Given the description of an element on the screen output the (x, y) to click on. 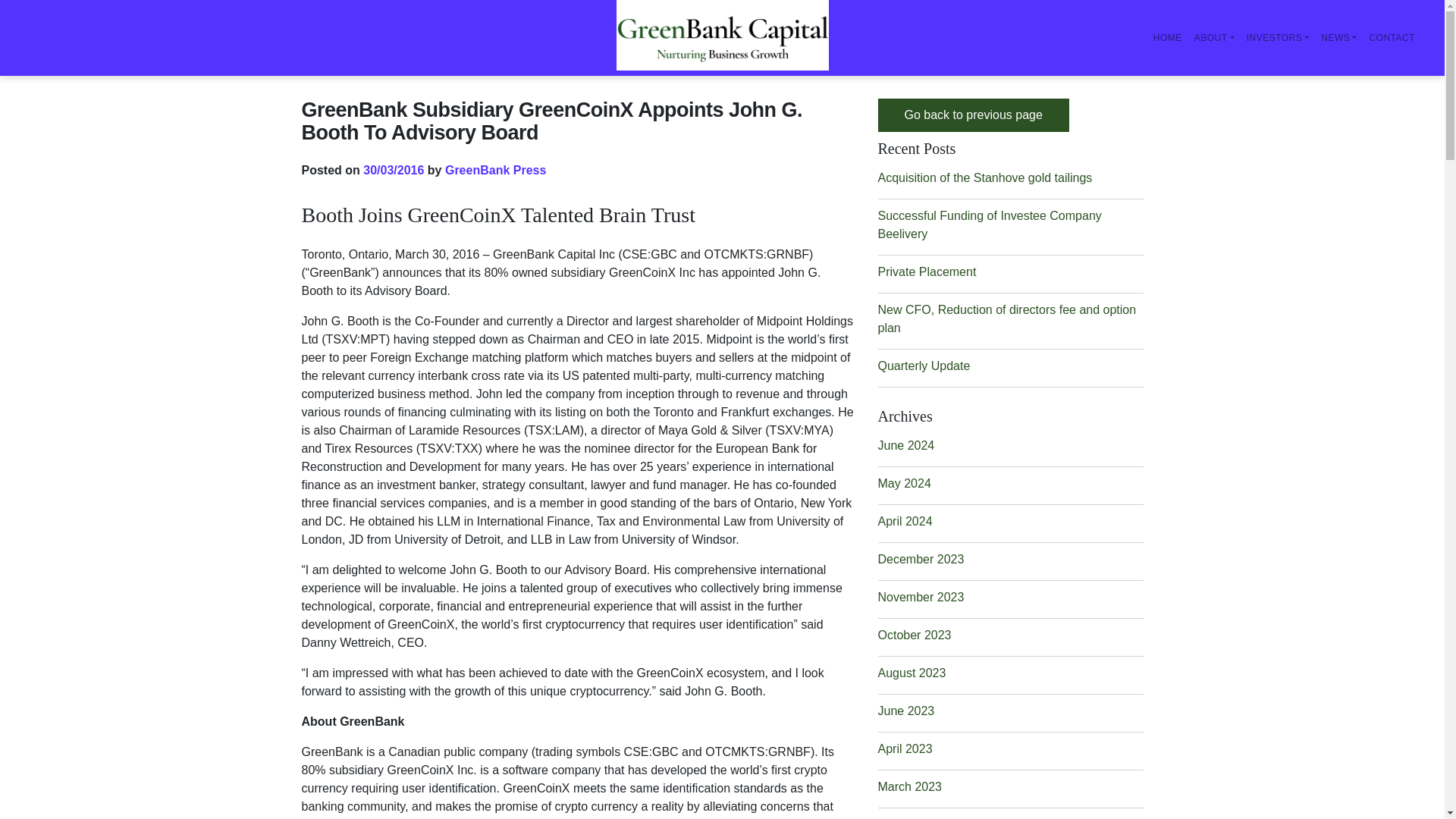
CONTACT (1391, 37)
Successful Funding of Investee Company Beelivery (989, 224)
Home (1167, 37)
Quarterly Update (924, 365)
About (1214, 37)
May 2024 (904, 482)
INVESTORS (1278, 37)
HOME (1167, 37)
News (1338, 37)
NEWS (1338, 37)
